Given the description of an element on the screen output the (x, y) to click on. 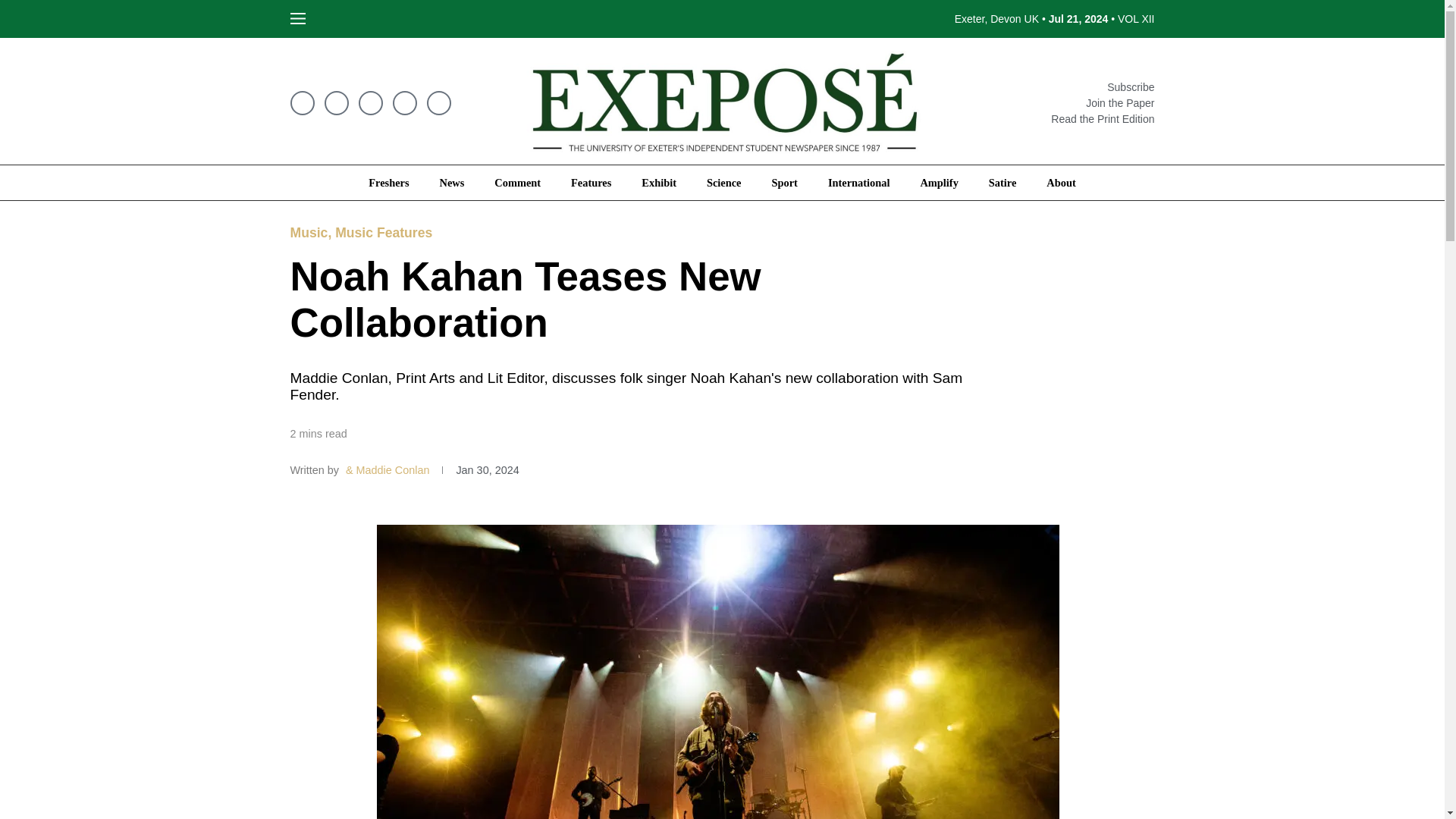
Sport (784, 182)
News (452, 182)
Subscribe (1102, 87)
Comment (517, 182)
About (1060, 182)
International (858, 182)
Exhibit (658, 182)
Satire (1003, 182)
Science (724, 182)
Freshers (388, 182)
Join the Paper (1102, 102)
Read the Print Edition (1102, 119)
Features (591, 182)
Amplify (938, 182)
